Given the description of an element on the screen output the (x, y) to click on. 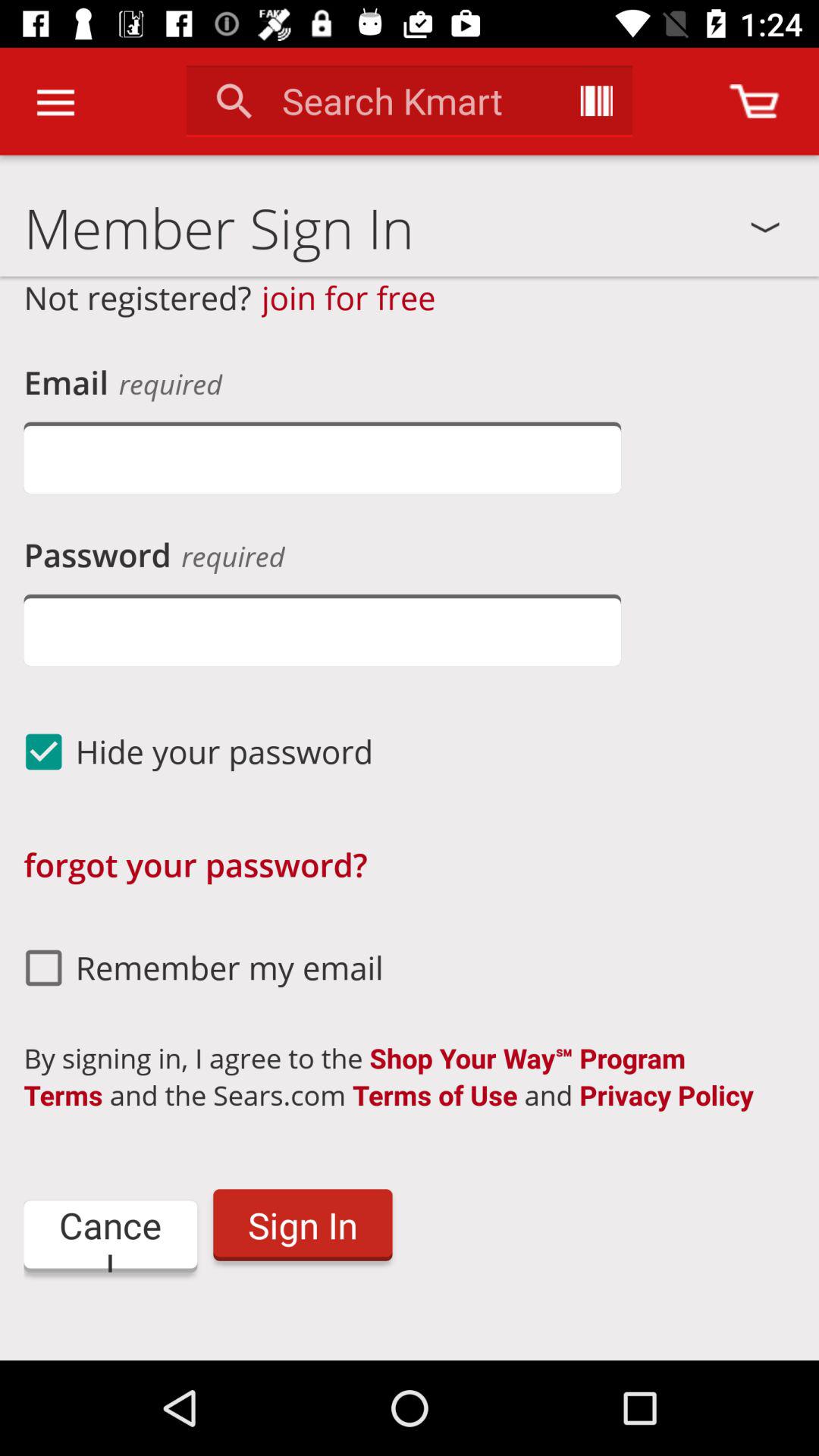
click the item next to not registered? item (348, 297)
